Given the description of an element on the screen output the (x, y) to click on. 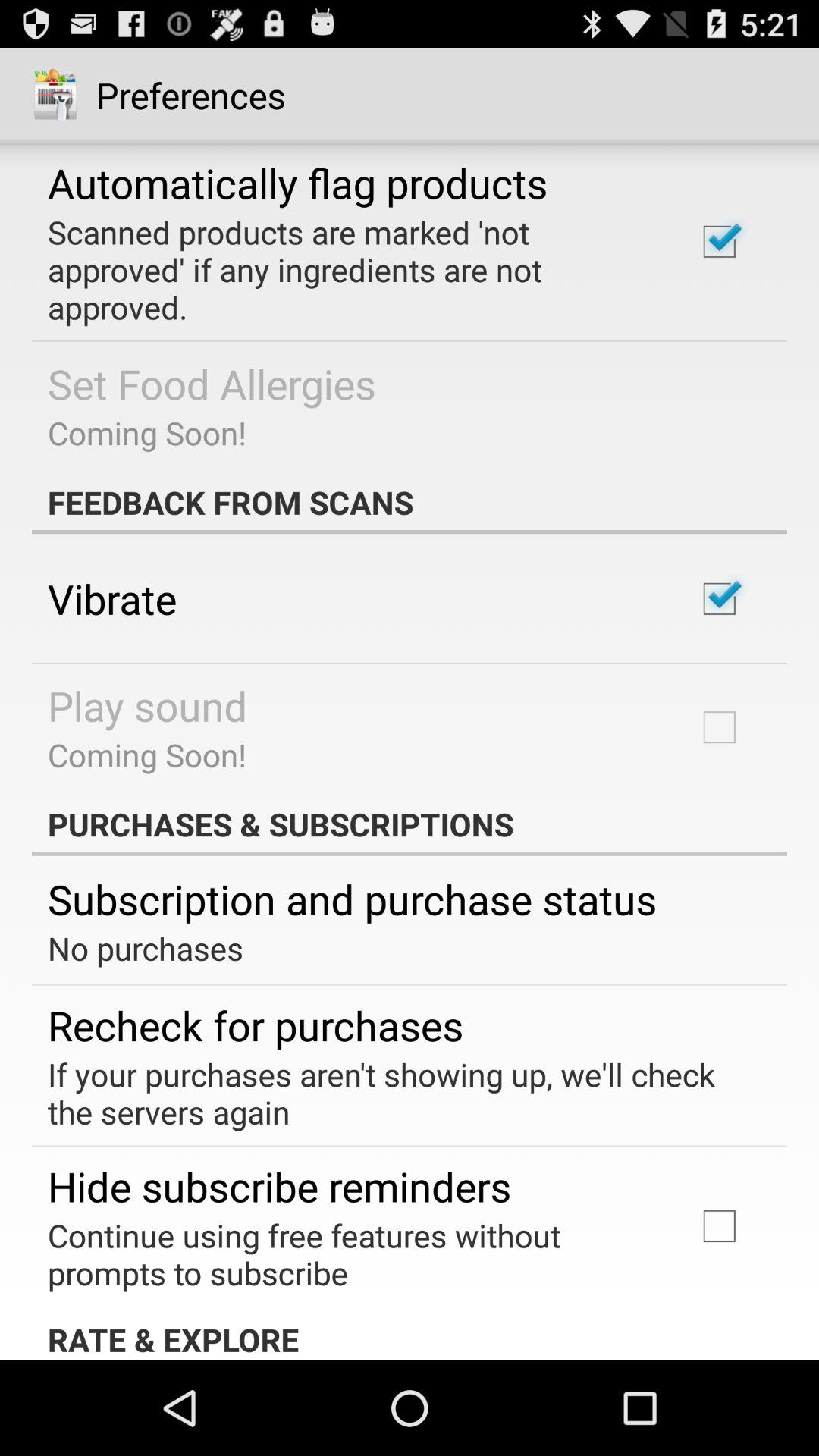
swipe until scanned products are item (351, 269)
